Given the description of an element on the screen output the (x, y) to click on. 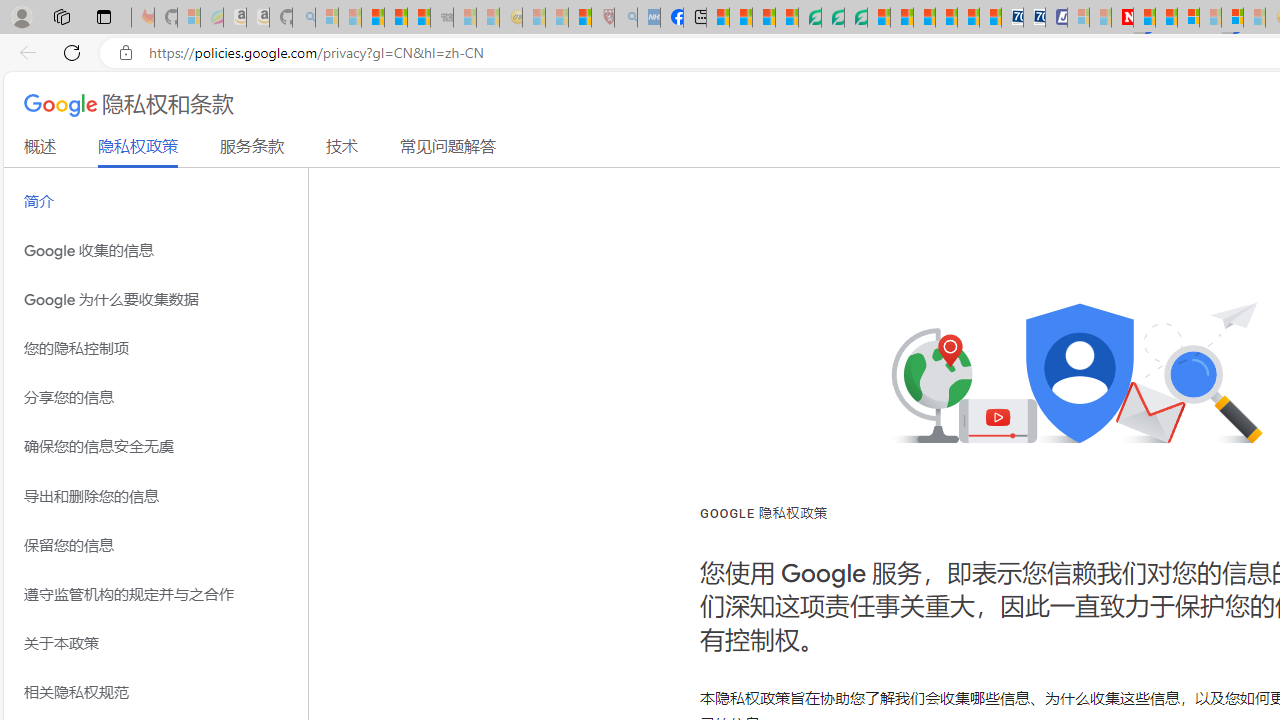
LendingTree - Compare Lenders (809, 17)
The Weather Channel - MSN (372, 17)
